Given the description of an element on the screen output the (x, y) to click on. 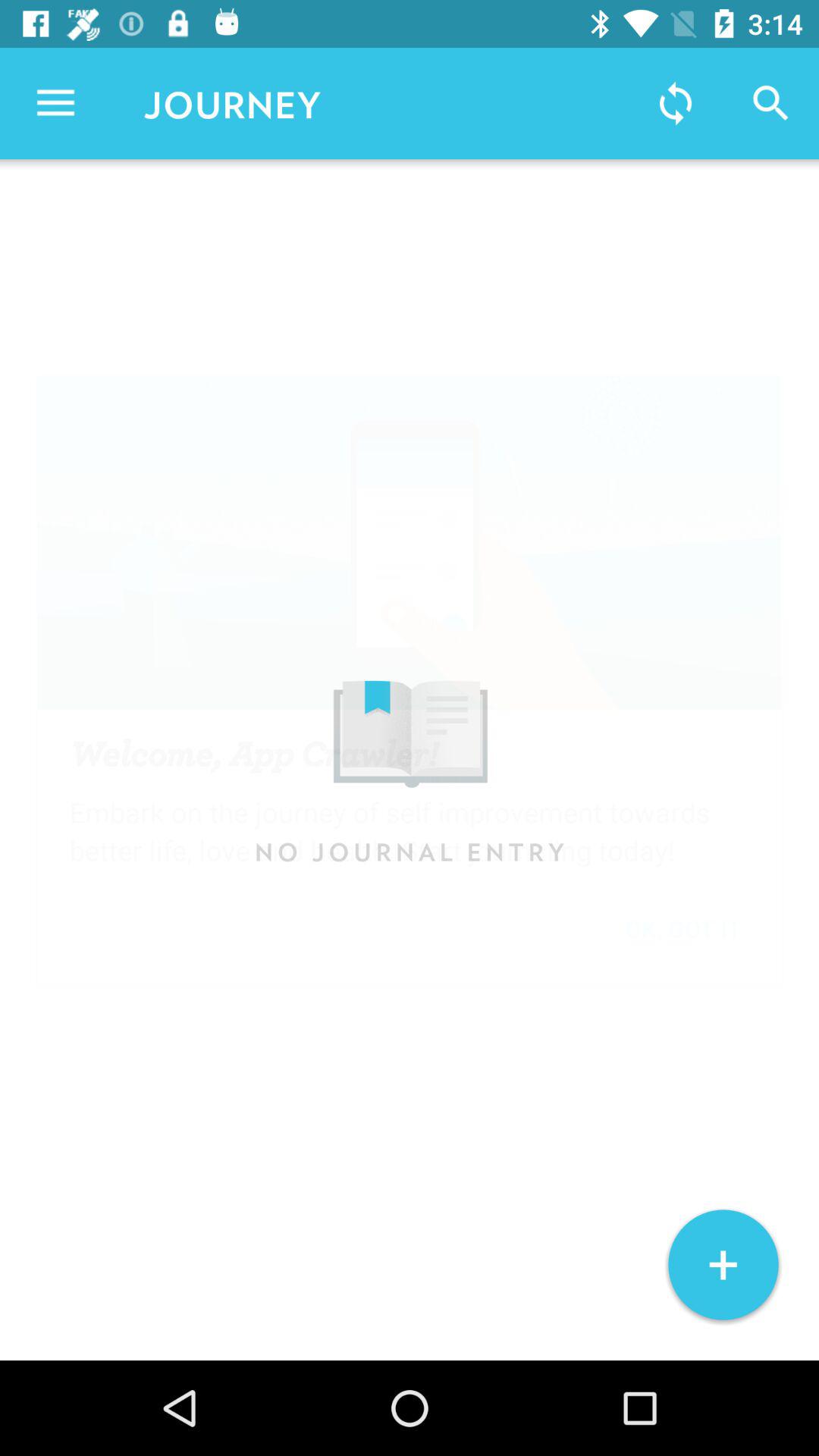
turn on the item next to the journey (675, 103)
